Given the description of an element on the screen output the (x, y) to click on. 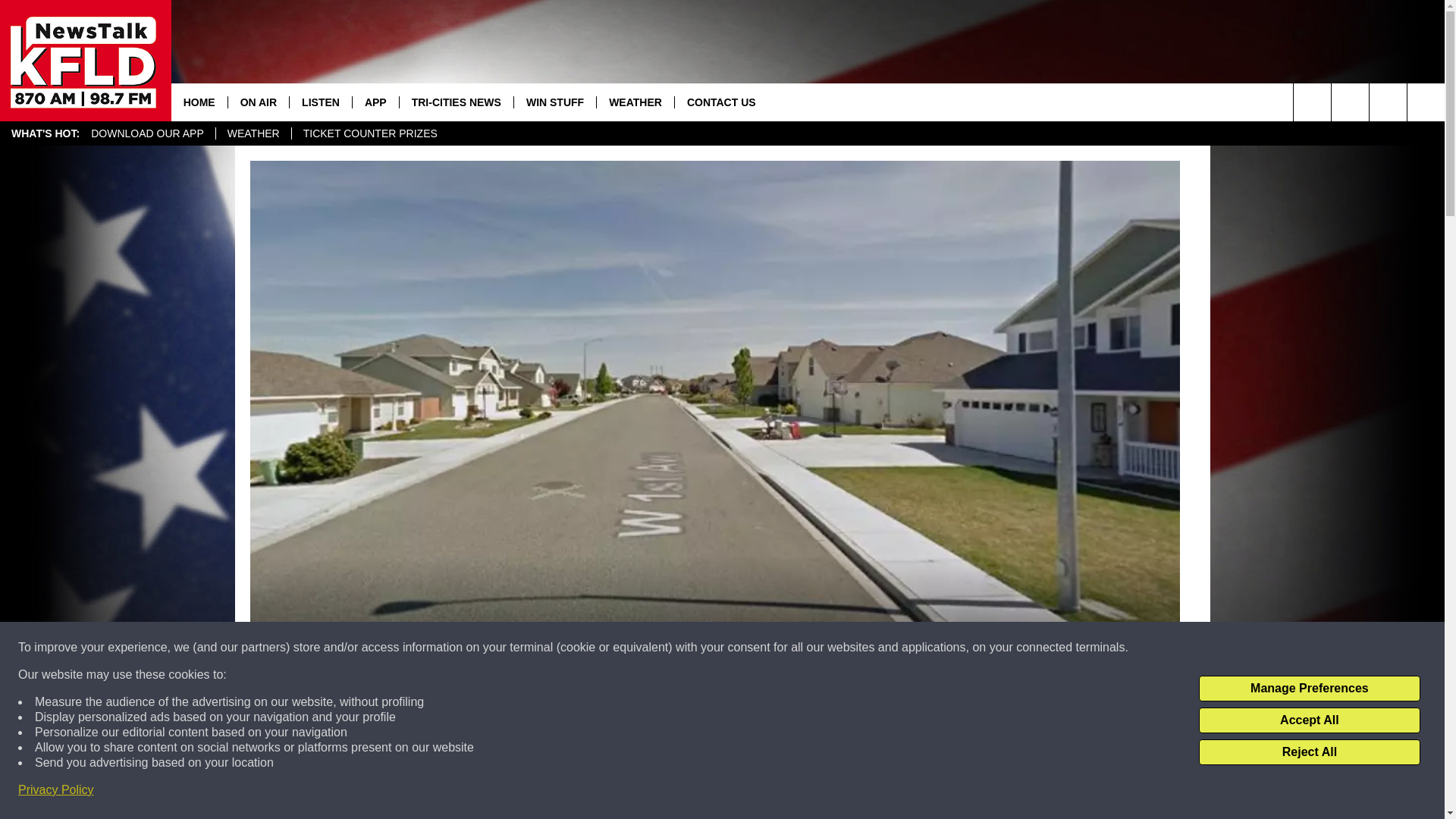
Share on Twitter (912, 791)
TRI-CITIES NEWS (455, 102)
Privacy Policy (55, 789)
ON AIR (257, 102)
HOME (199, 102)
Manage Preferences (1309, 688)
LISTEN (320, 102)
TICKET COUNTER PRIZES (369, 133)
APP (375, 102)
Share on Facebook (517, 791)
WEATHER (253, 133)
WIN STUFF (554, 102)
WEATHER (634, 102)
DOWNLOAD OUR APP (147, 133)
Reject All (1309, 751)
